Given the description of an element on the screen output the (x, y) to click on. 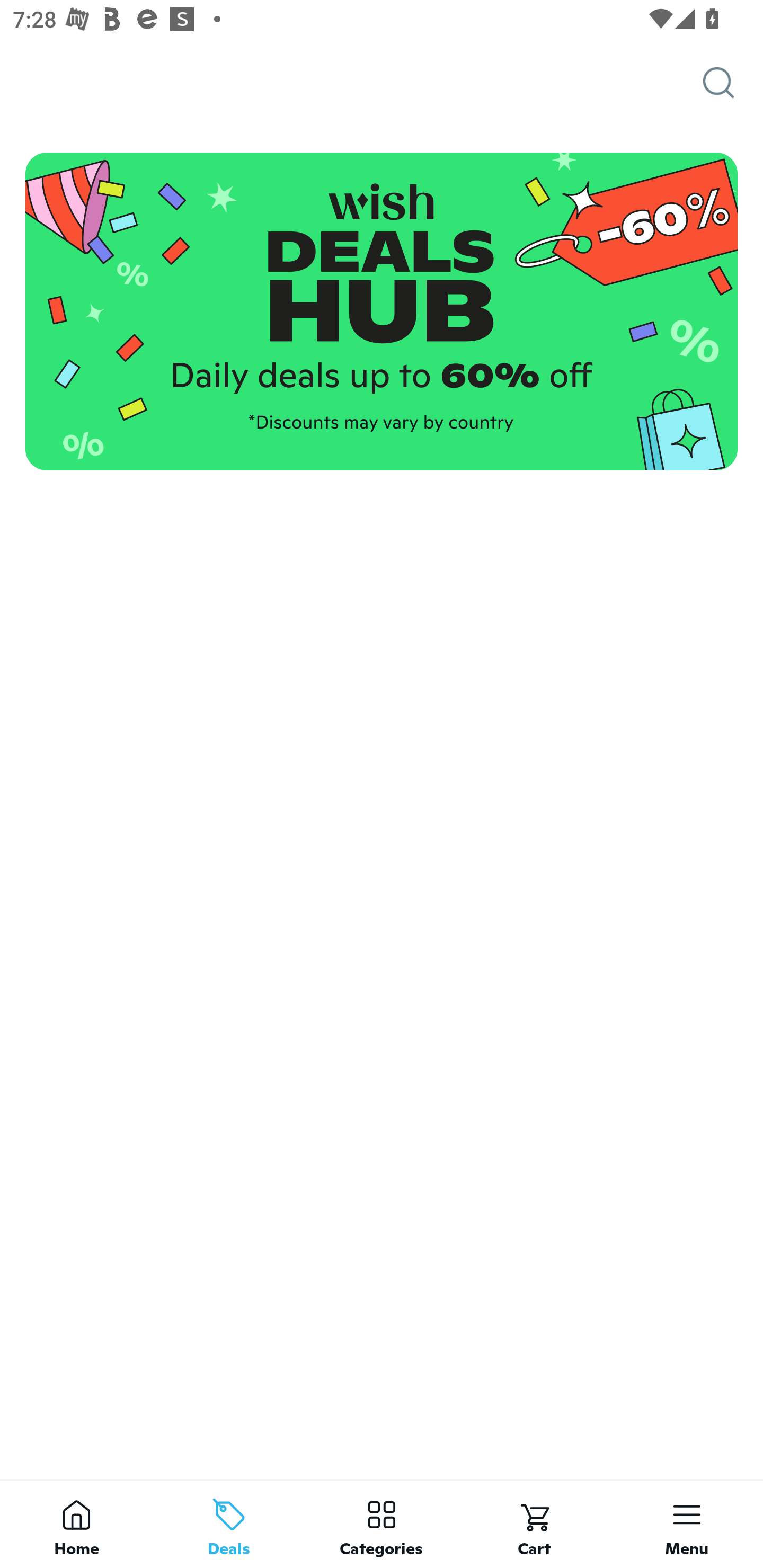
Search (732, 82)
Home (76, 1523)
Deals (228, 1523)
Categories (381, 1523)
Cart (533, 1523)
Menu (686, 1523)
